Given the description of an element on the screen output the (x, y) to click on. 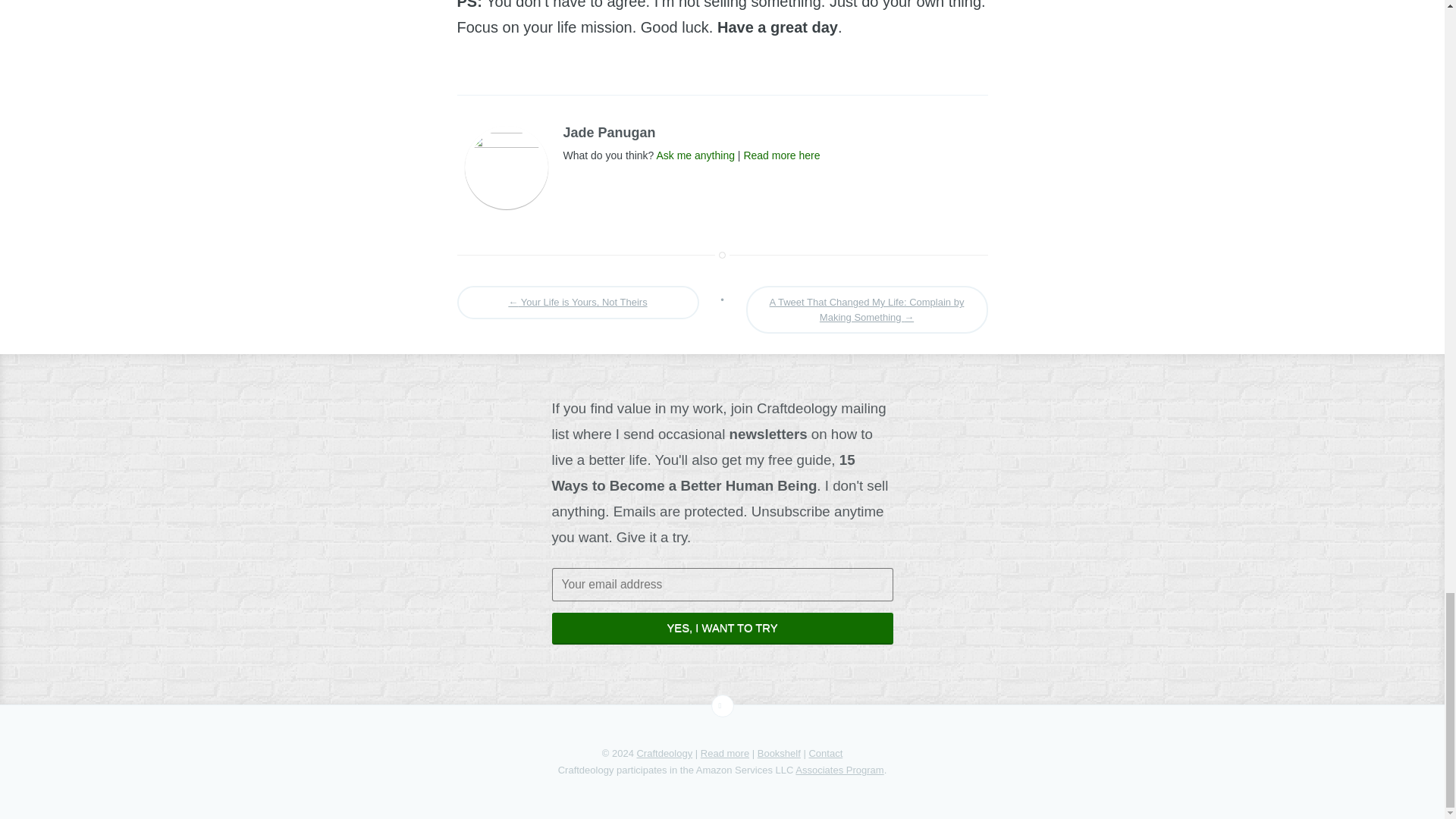
Associates Program (838, 769)
Read more (724, 753)
Yes, I want to try (722, 628)
Read more here (780, 155)
Yes, I want to try (722, 628)
Bookshelf (778, 753)
Contact (825, 753)
Jade Panugan (608, 132)
Craftdeology (664, 753)
Ask me anything (695, 155)
